Given the description of an element on the screen output the (x, y) to click on. 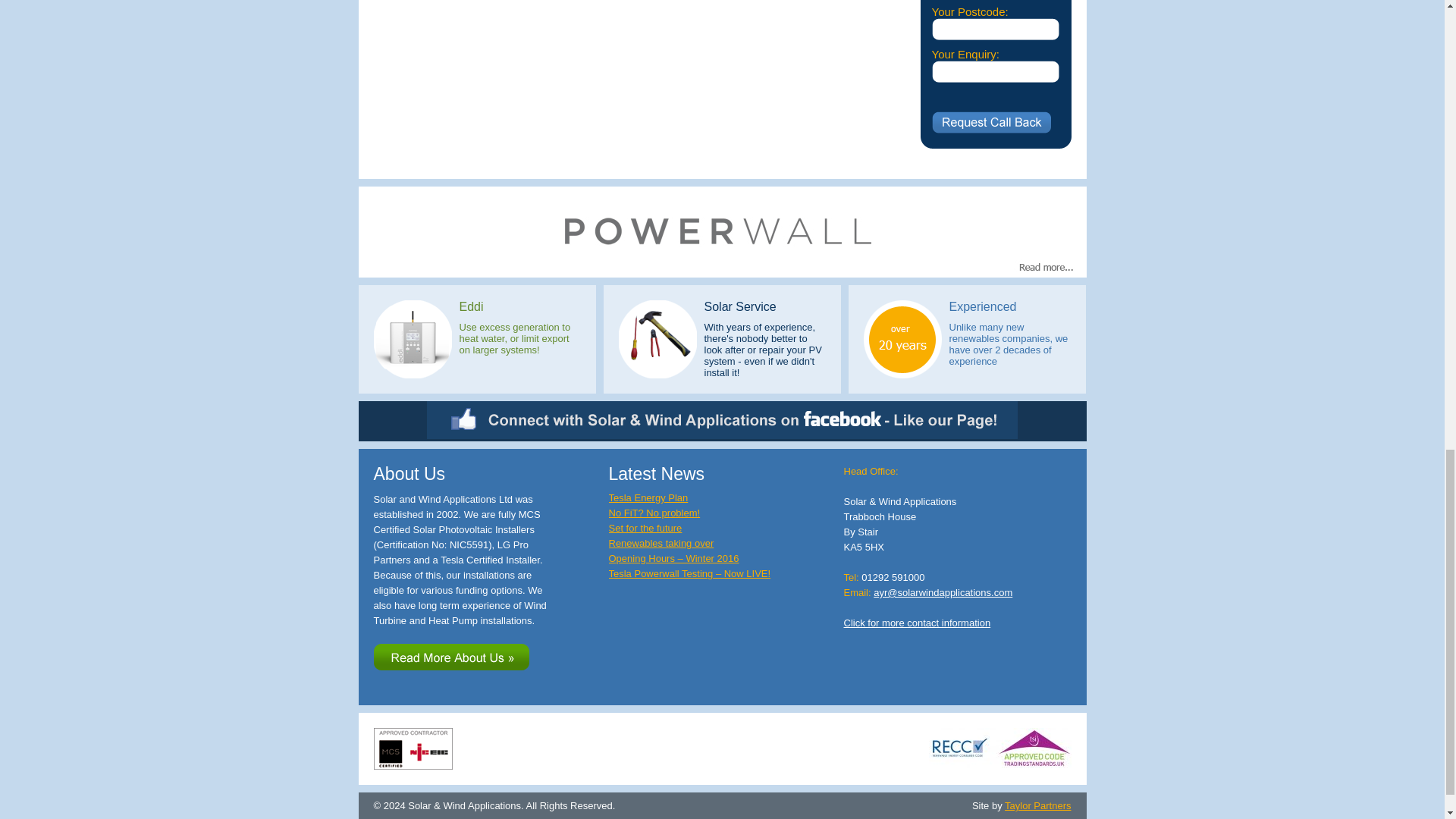
Submit (990, 122)
Submit (990, 122)
